Given the description of an element on the screen output the (x, y) to click on. 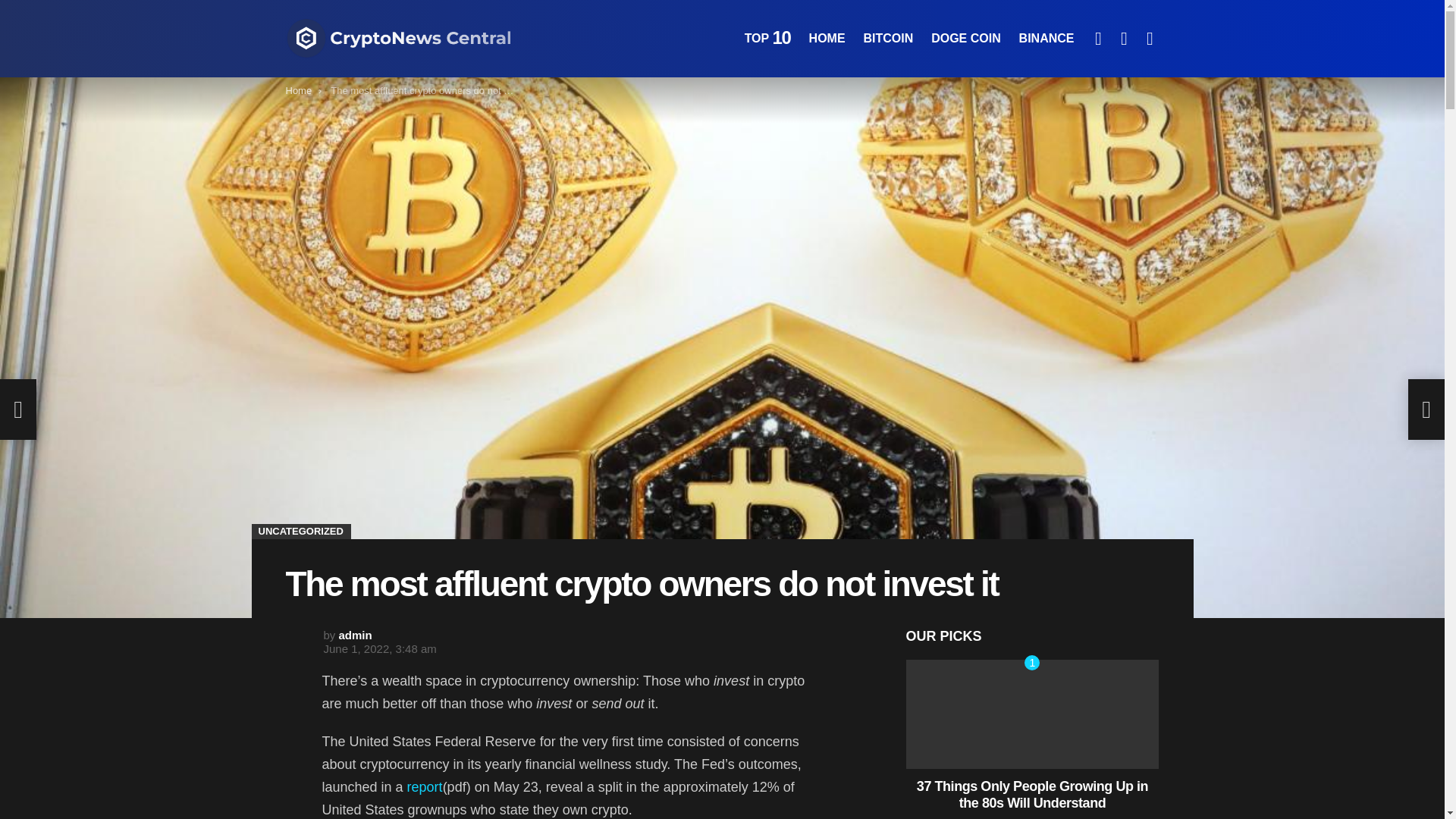
BINANCE (1046, 38)
TOP 10 (766, 38)
HOME (827, 38)
BITCOIN (888, 38)
Posts by admin (355, 634)
report (424, 786)
UNCATEGORIZED (300, 531)
DOGE COIN (966, 38)
admin (355, 634)
Home (298, 90)
